Given the description of an element on the screen output the (x, y) to click on. 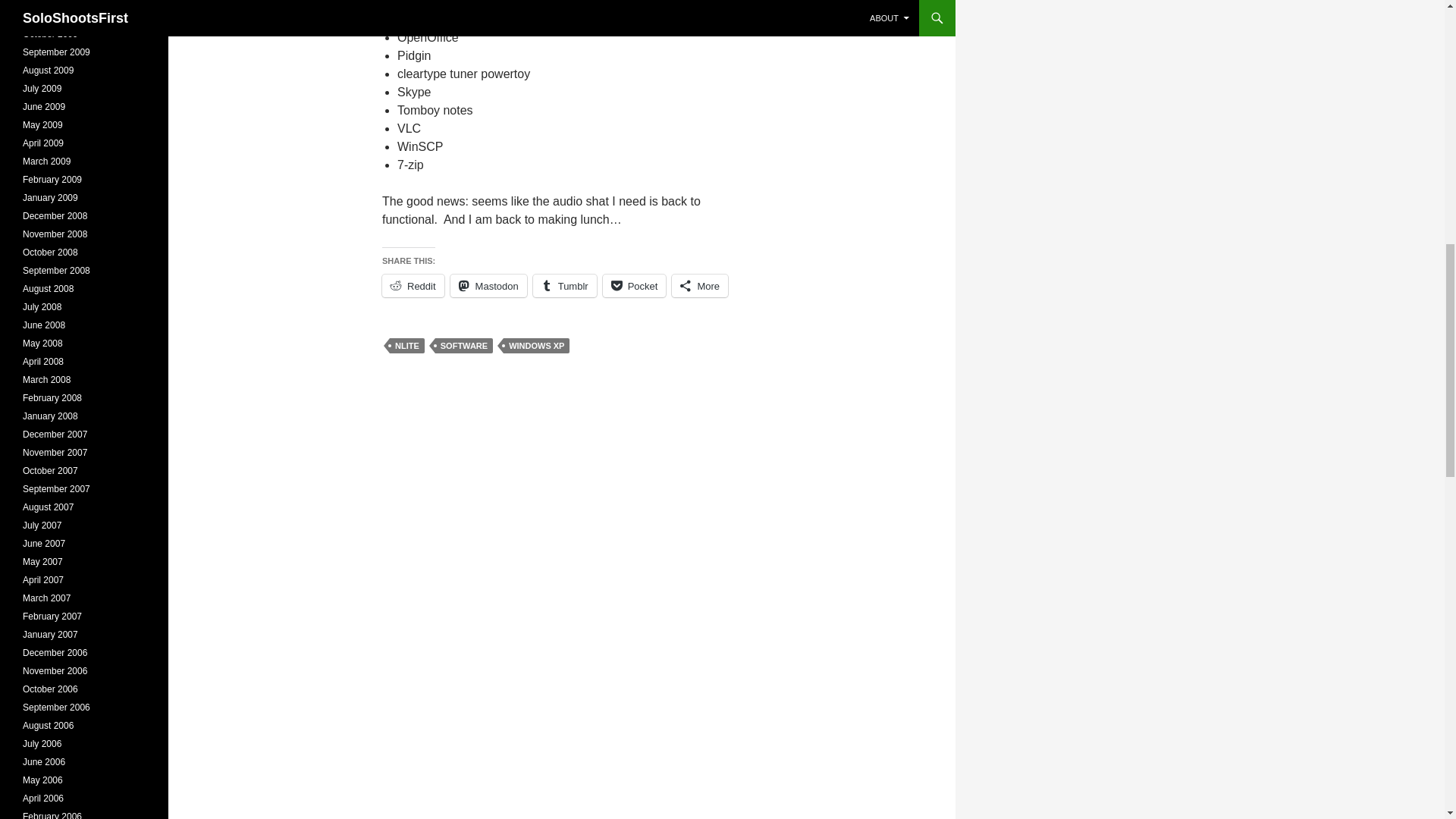
WINDOWS XP (536, 345)
Reddit (412, 285)
SOFTWARE (464, 345)
More (699, 285)
Click to share on Pocket (634, 285)
Tumblr (564, 285)
Click to share on Reddit (412, 285)
NLITE (407, 345)
Pocket (634, 285)
Mastodon (488, 285)
Click to share on Tumblr (564, 285)
Click to share on Mastodon (488, 285)
